Given the description of an element on the screen output the (x, y) to click on. 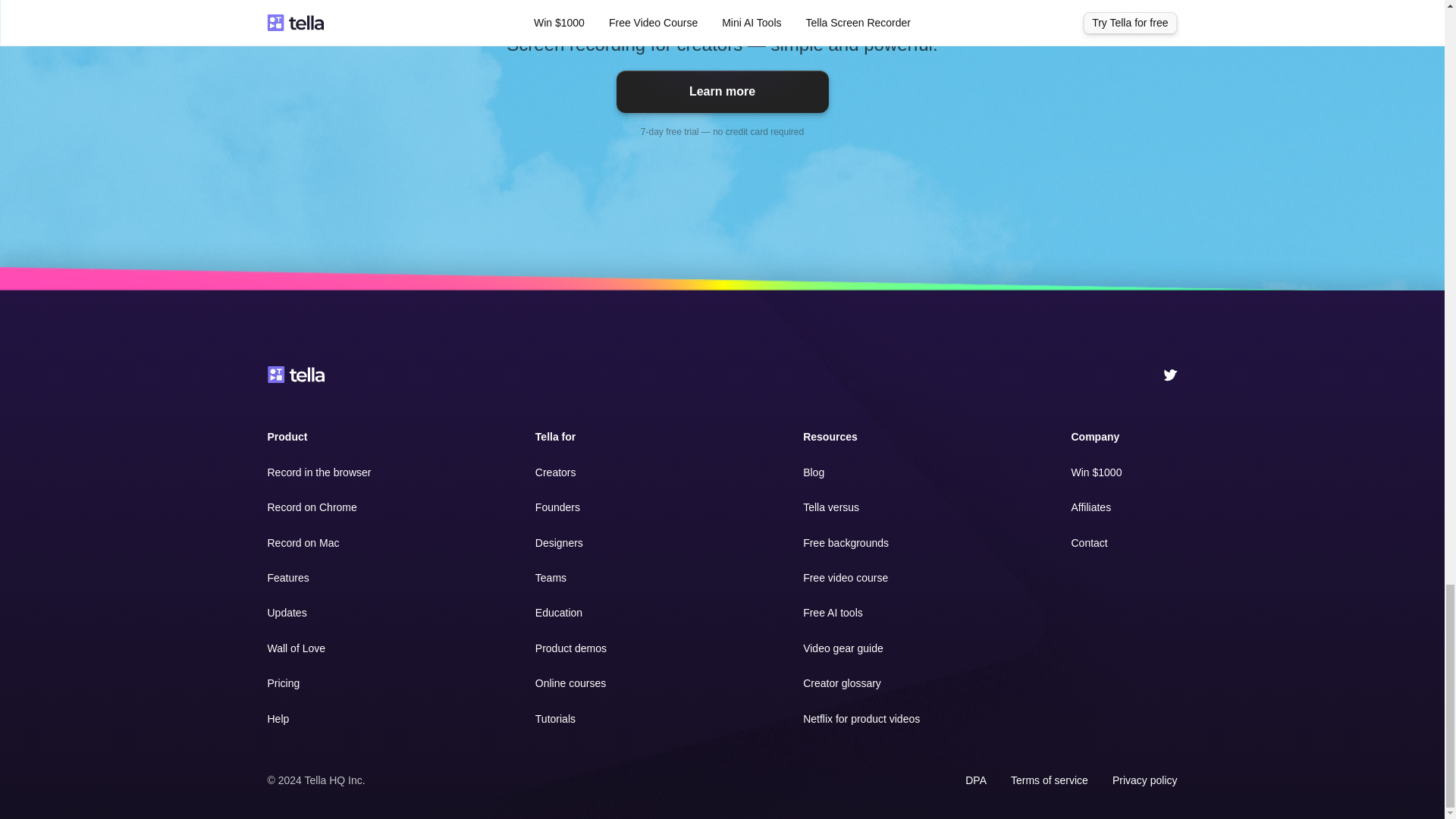
Updates (285, 612)
Free video course (845, 577)
Features (287, 577)
Product (286, 436)
Blog (813, 472)
Help (277, 718)
Record in the browser (318, 472)
Resources (830, 436)
Record on Chrome (311, 507)
Product demos (571, 648)
